Given the description of an element on the screen output the (x, y) to click on. 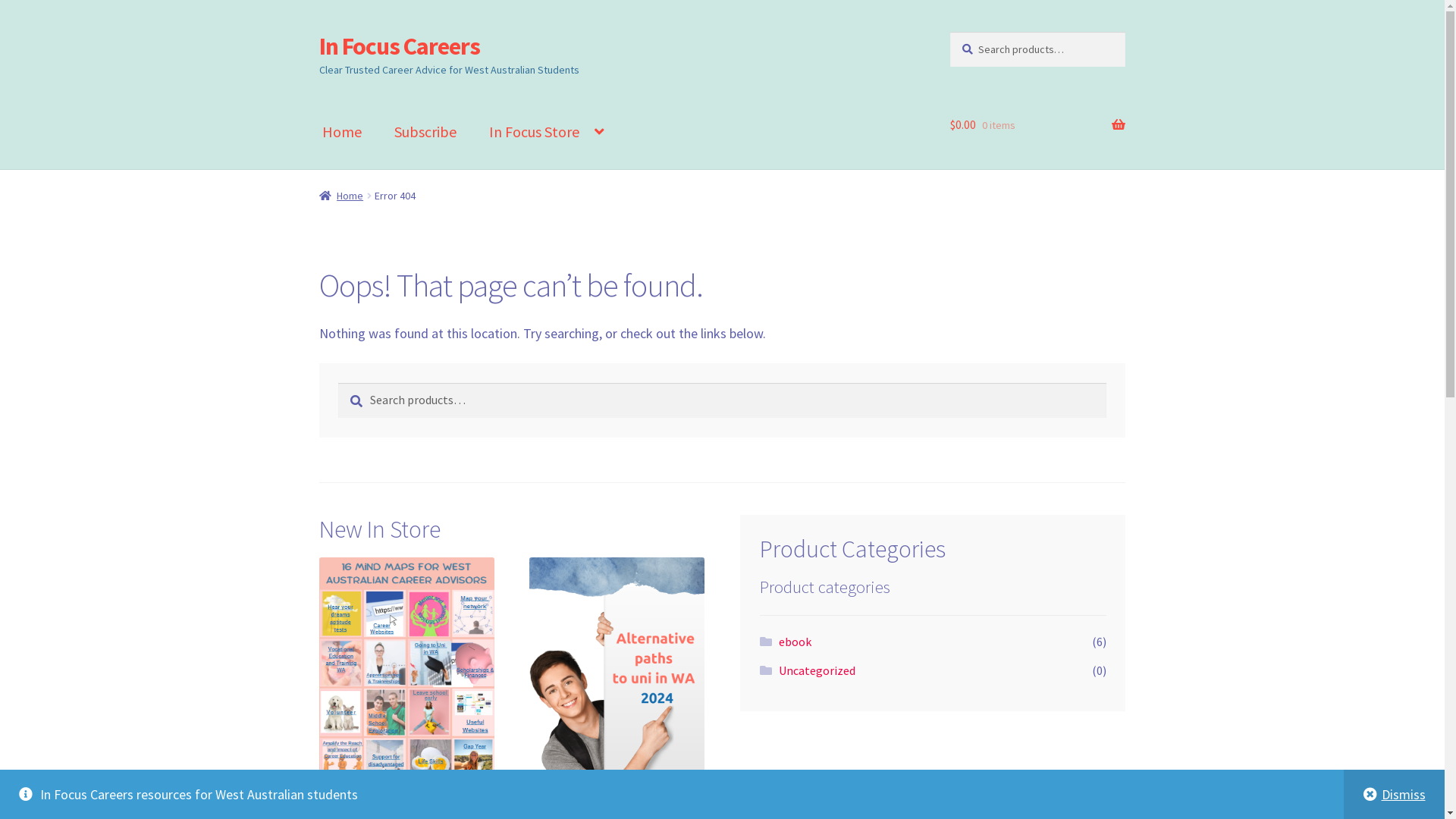
Skip to navigation Element type: text (318, 31)
Search Element type: text (949, 31)
Home Element type: text (341, 132)
Uncategorized Element type: text (816, 669)
ebook Element type: text (794, 641)
Home Element type: text (341, 195)
Search Element type: text (337, 382)
Subscribe Element type: text (425, 132)
$0.00 0 items Element type: text (1037, 124)
In Focus Store Element type: text (546, 132)
In Focus Careers Element type: text (399, 46)
